Given the description of an element on the screen output the (x, y) to click on. 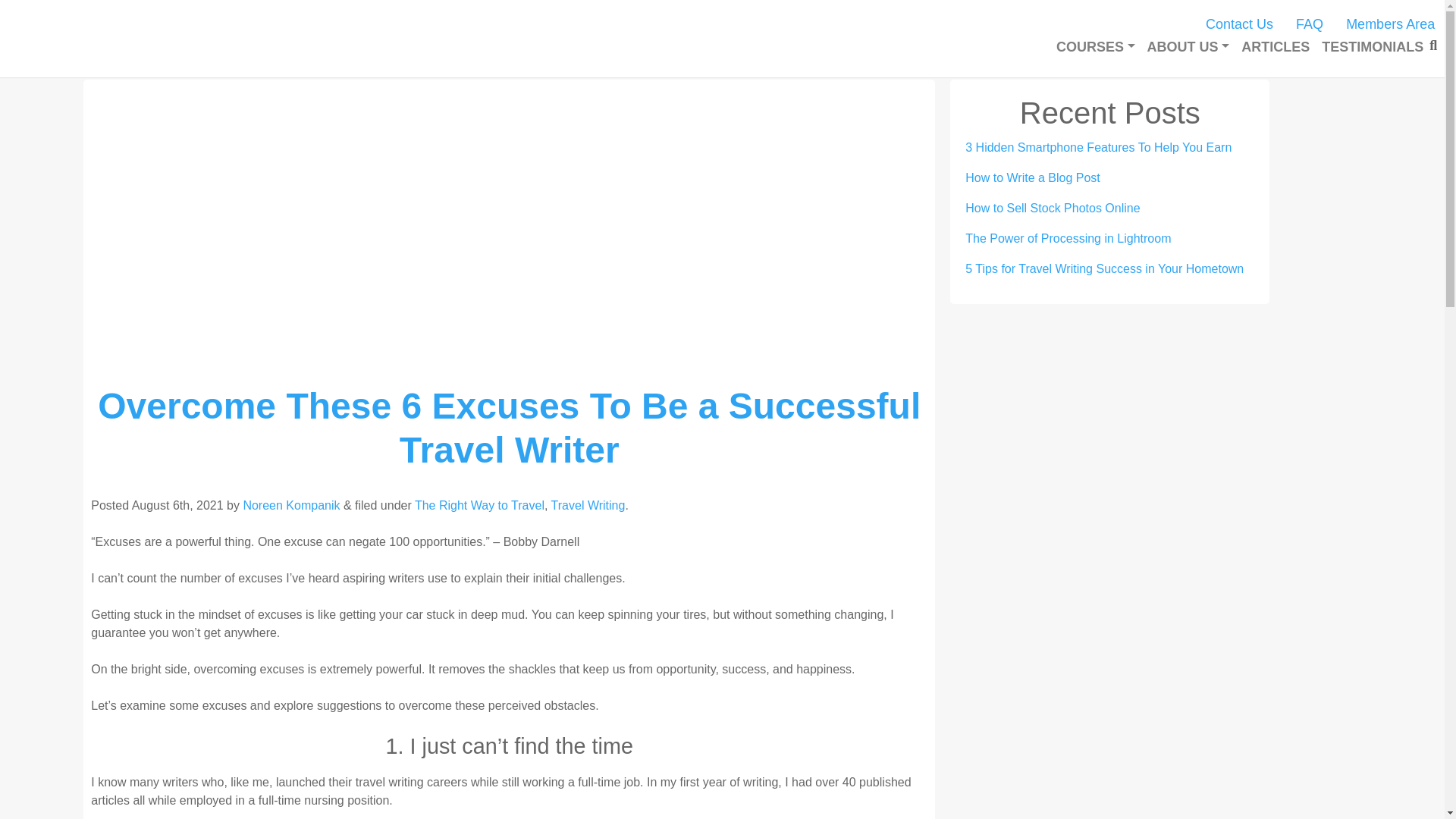
Travel Writing (588, 504)
Courses (1095, 47)
Testimonials (1372, 47)
Articles (1275, 47)
TESTIMONIALS (1372, 47)
Members Area (1389, 23)
ABOUT US (1188, 47)
Contact Us (1238, 23)
COURSES (1095, 47)
The Power of Processing in Lightroom (1067, 237)
